Given the description of an element on the screen output the (x, y) to click on. 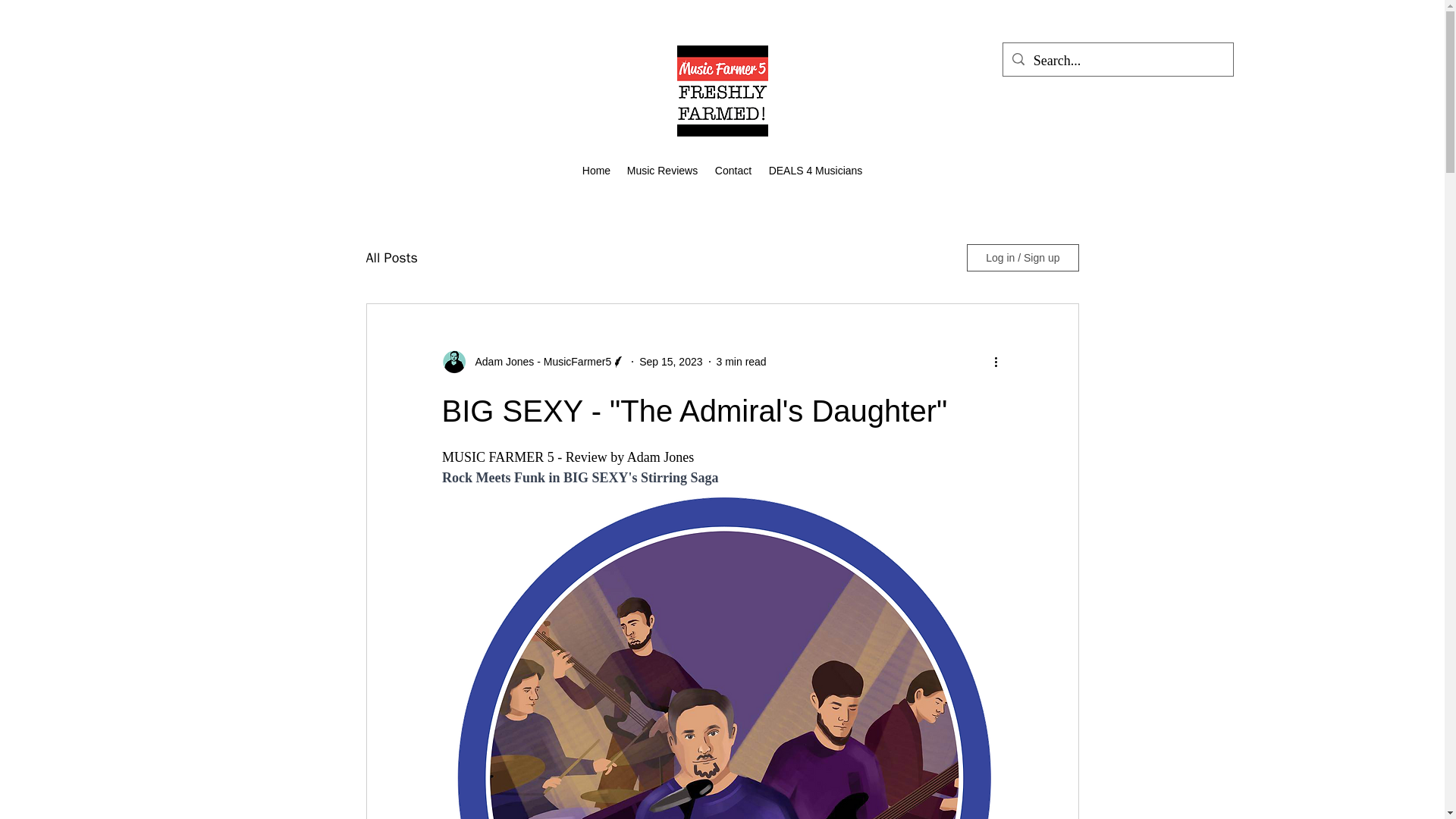
Home (595, 169)
Contact (733, 169)
3 min read (741, 360)
Music Reviews (662, 169)
All Posts (390, 257)
DEALS 4 Musicians (815, 169)
Sep 15, 2023 (670, 360)
Adam Jones - MusicFarmer5 (538, 360)
